Given the description of an element on the screen output the (x, y) to click on. 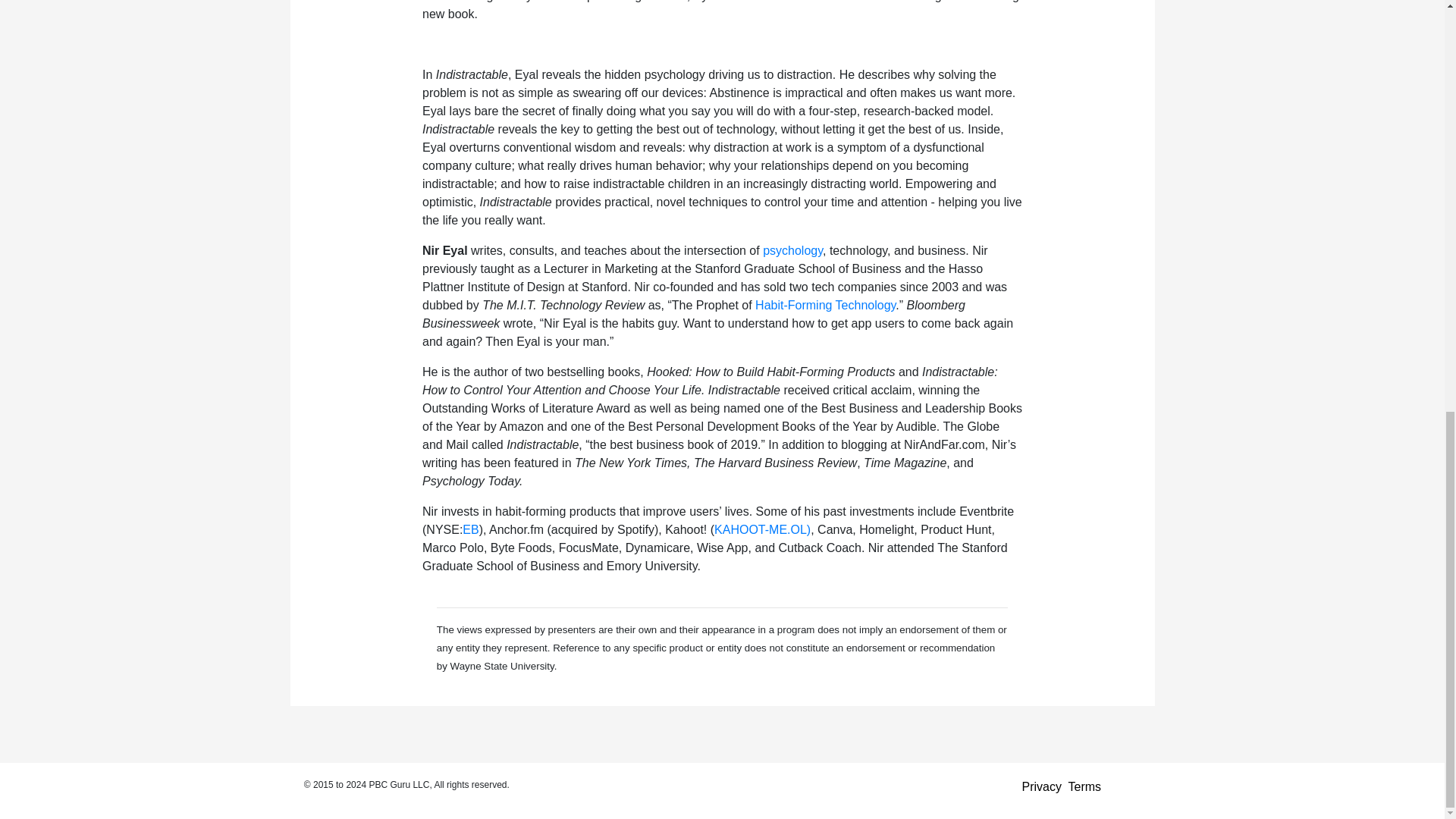
Habit-Forming Technology (825, 305)
EB (471, 529)
Terms (1085, 786)
Privacy (1041, 786)
psychology (792, 250)
KAHOOT-ME.OL (760, 529)
